Given the description of an element on the screen output the (x, y) to click on. 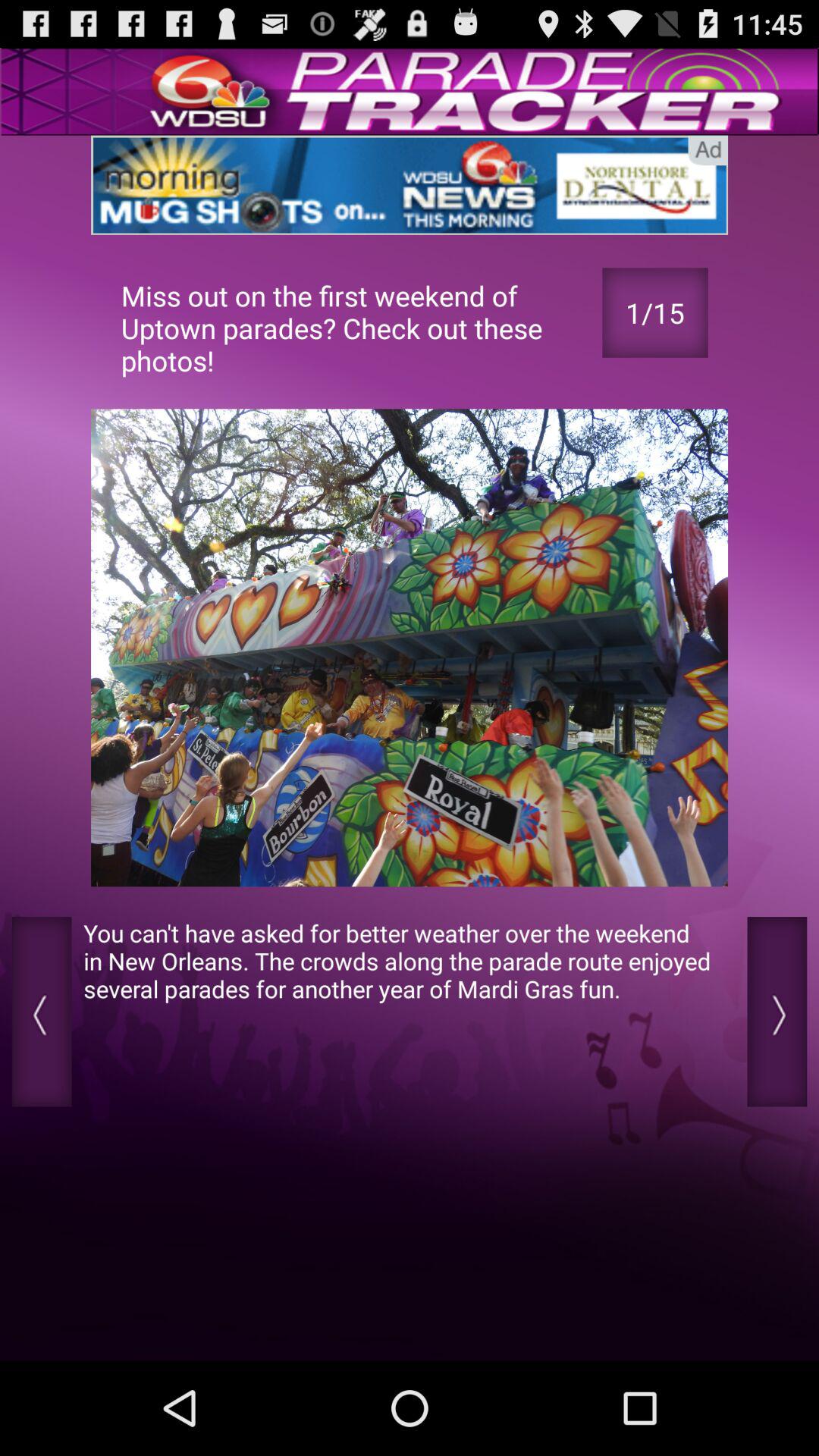
go back (41, 1011)
